Given the description of an element on the screen output the (x, y) to click on. 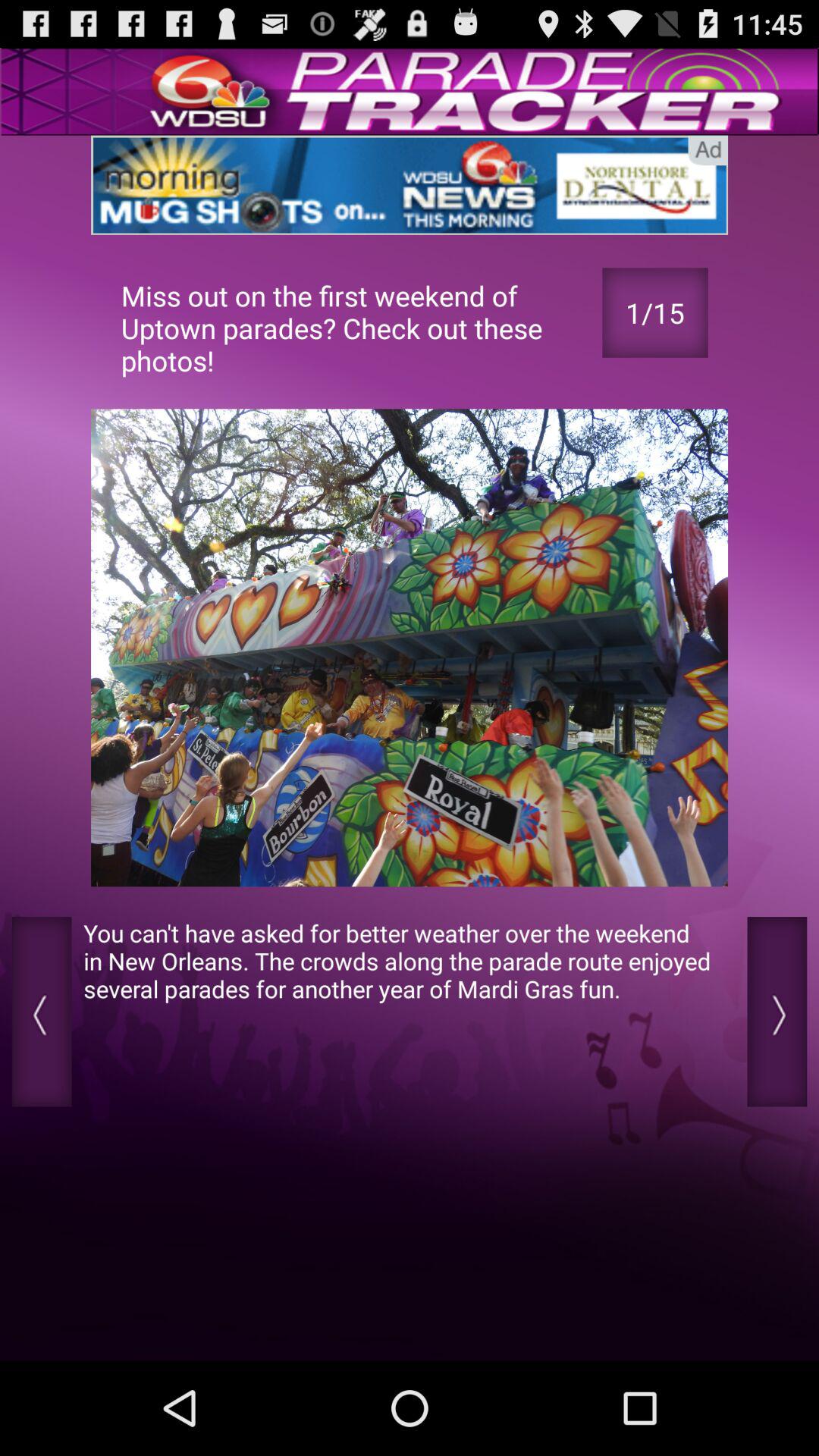
go back (41, 1011)
